Given the description of an element on the screen output the (x, y) to click on. 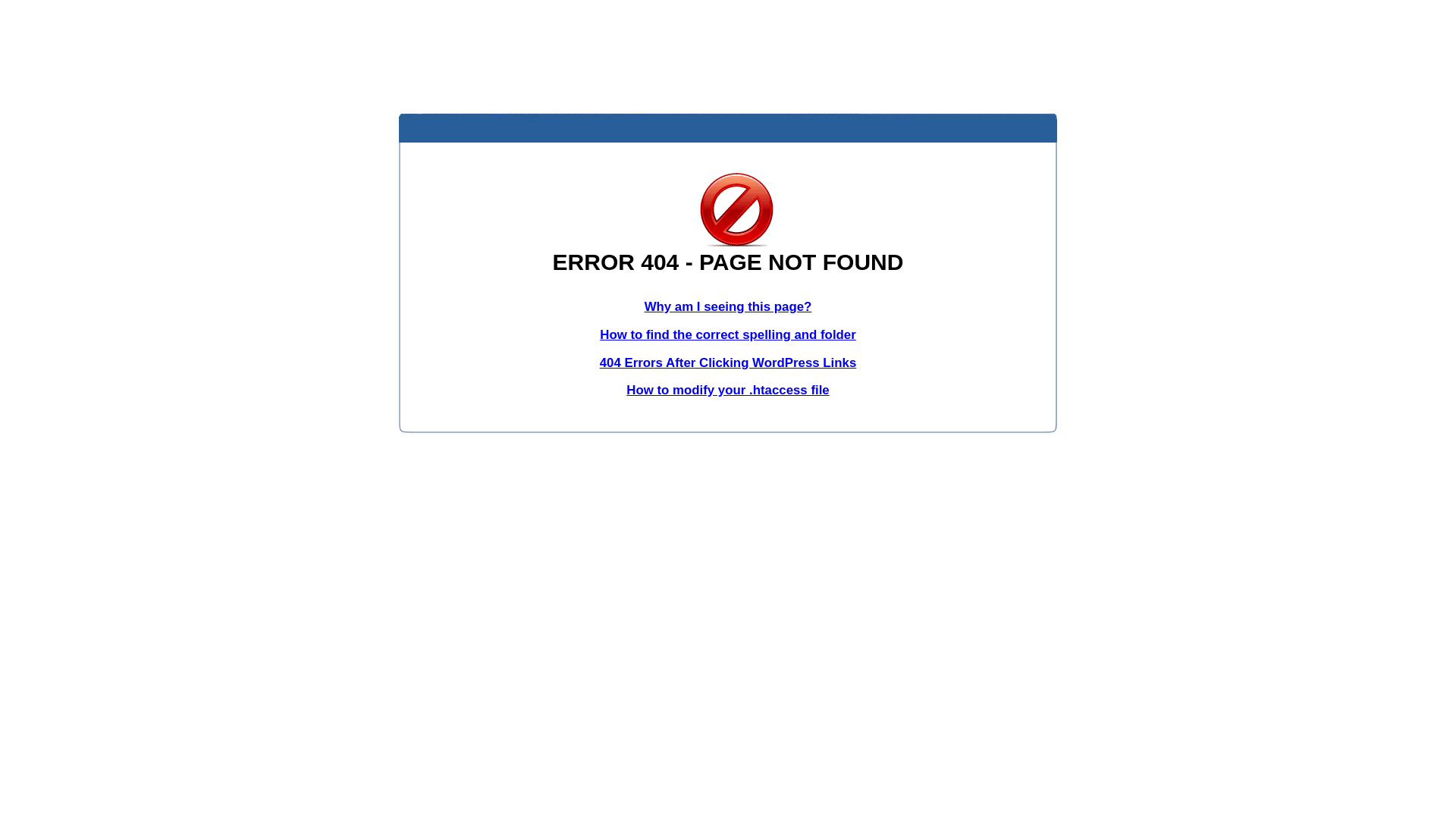
How to modify your .htaccess file Element type: text (727, 389)
Why am I seeing this page? Element type: text (728, 306)
How to find the correct spelling and folder Element type: text (727, 334)
404 Errors After Clicking WordPress Links Element type: text (727, 362)
